Given the description of an element on the screen output the (x, y) to click on. 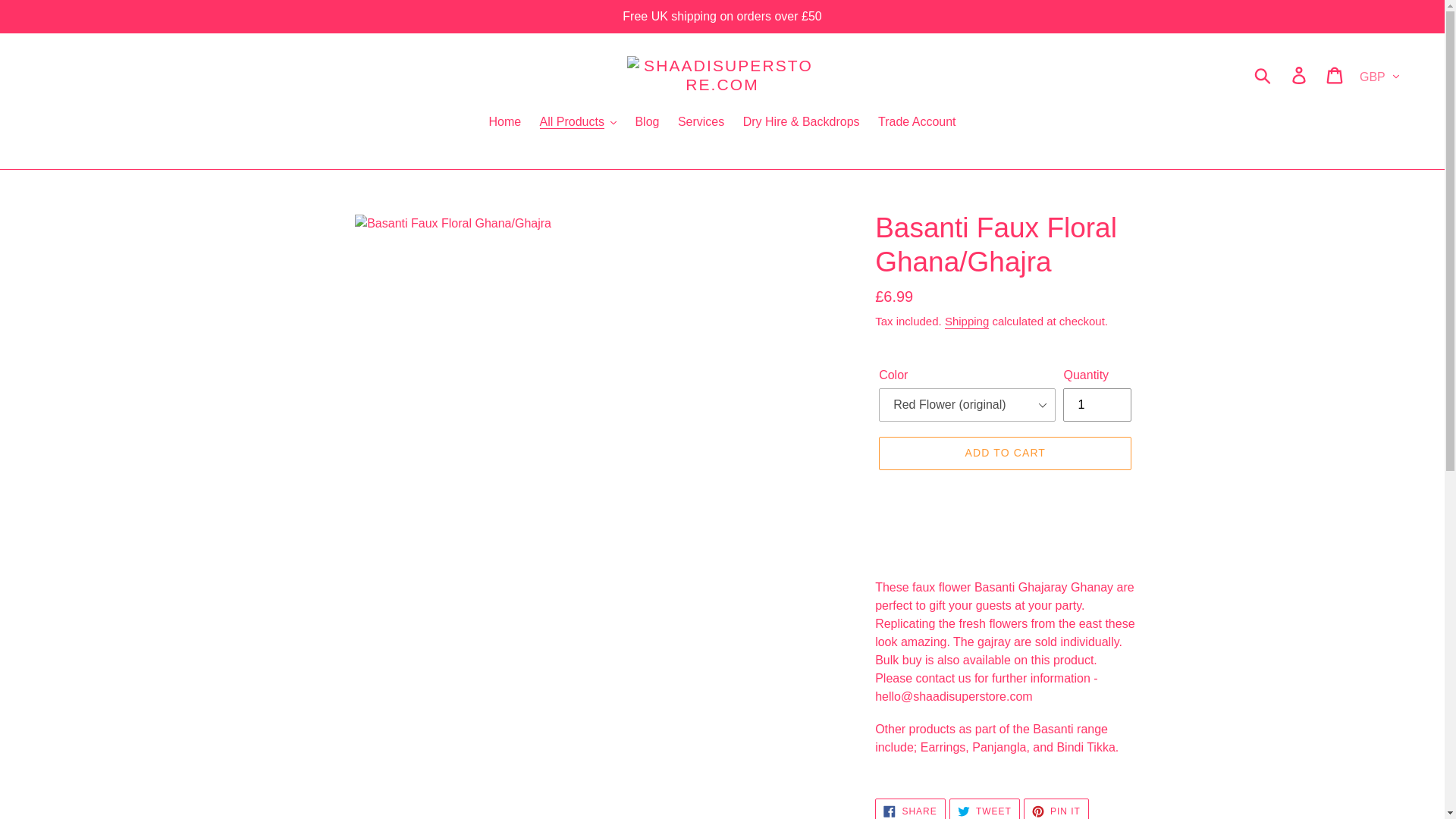
Cart (1335, 74)
Home (504, 123)
Submit (1263, 74)
1 (1096, 404)
Log in (1299, 74)
